Given the description of an element on the screen output the (x, y) to click on. 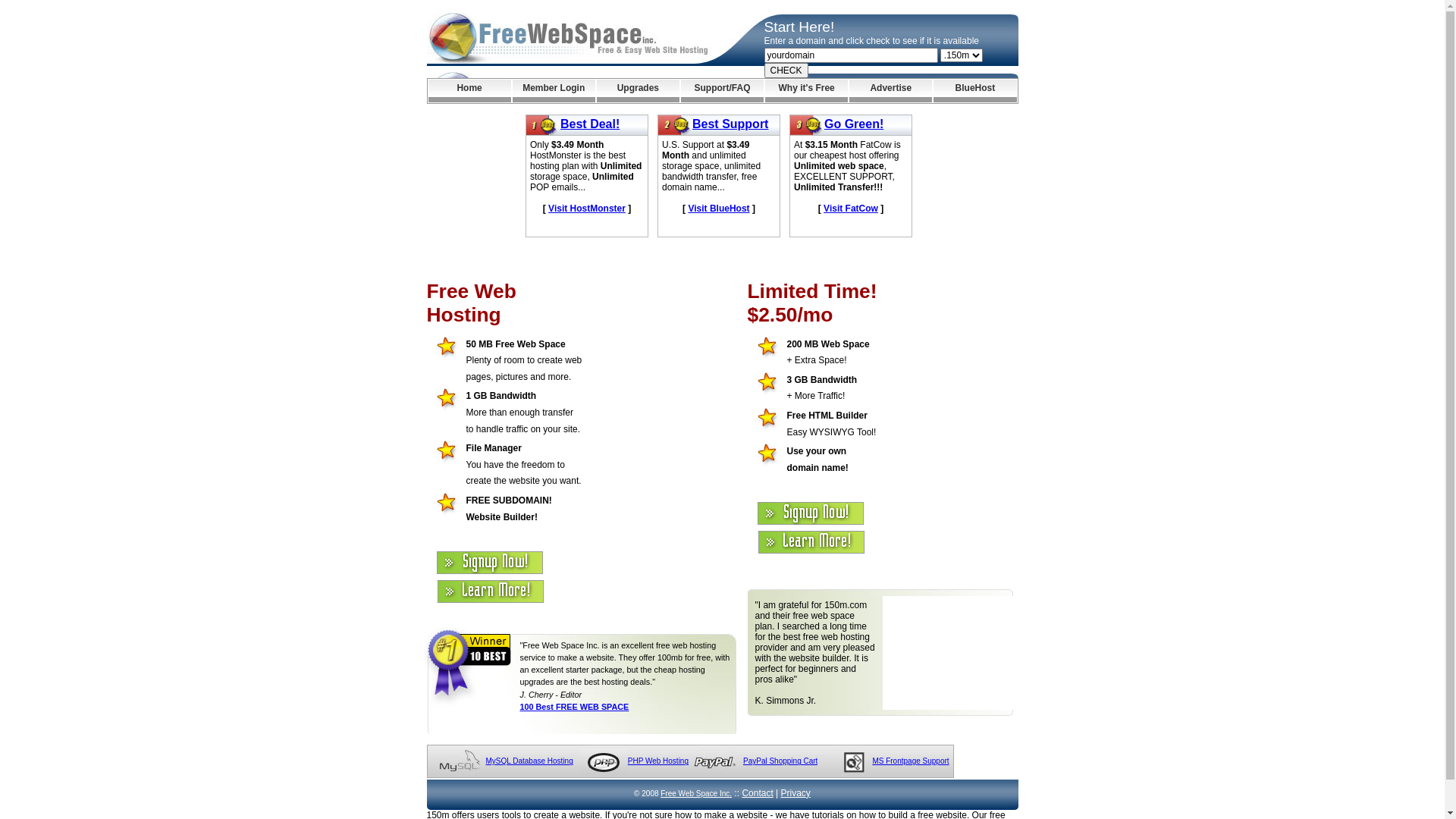
Why it's Free Element type: text (806, 90)
MySQL Database Hosting Element type: text (528, 760)
Support/FAQ Element type: text (721, 90)
Home Element type: text (468, 90)
MS Frontpage Support Element type: text (910, 760)
CHECK Element type: text (786, 70)
BlueHost Element type: text (974, 90)
PayPal Shopping Cart Element type: text (780, 760)
Upgrades Element type: text (637, 90)
Advertise Element type: text (890, 90)
Privacy Element type: text (795, 792)
Contact Element type: text (756, 792)
Member Login Element type: text (553, 90)
100 Best FREE WEB SPACE Element type: text (574, 706)
PHP Web Hosting Element type: text (657, 760)
Free Web Space Inc. Element type: text (695, 793)
